Given the description of an element on the screen output the (x, y) to click on. 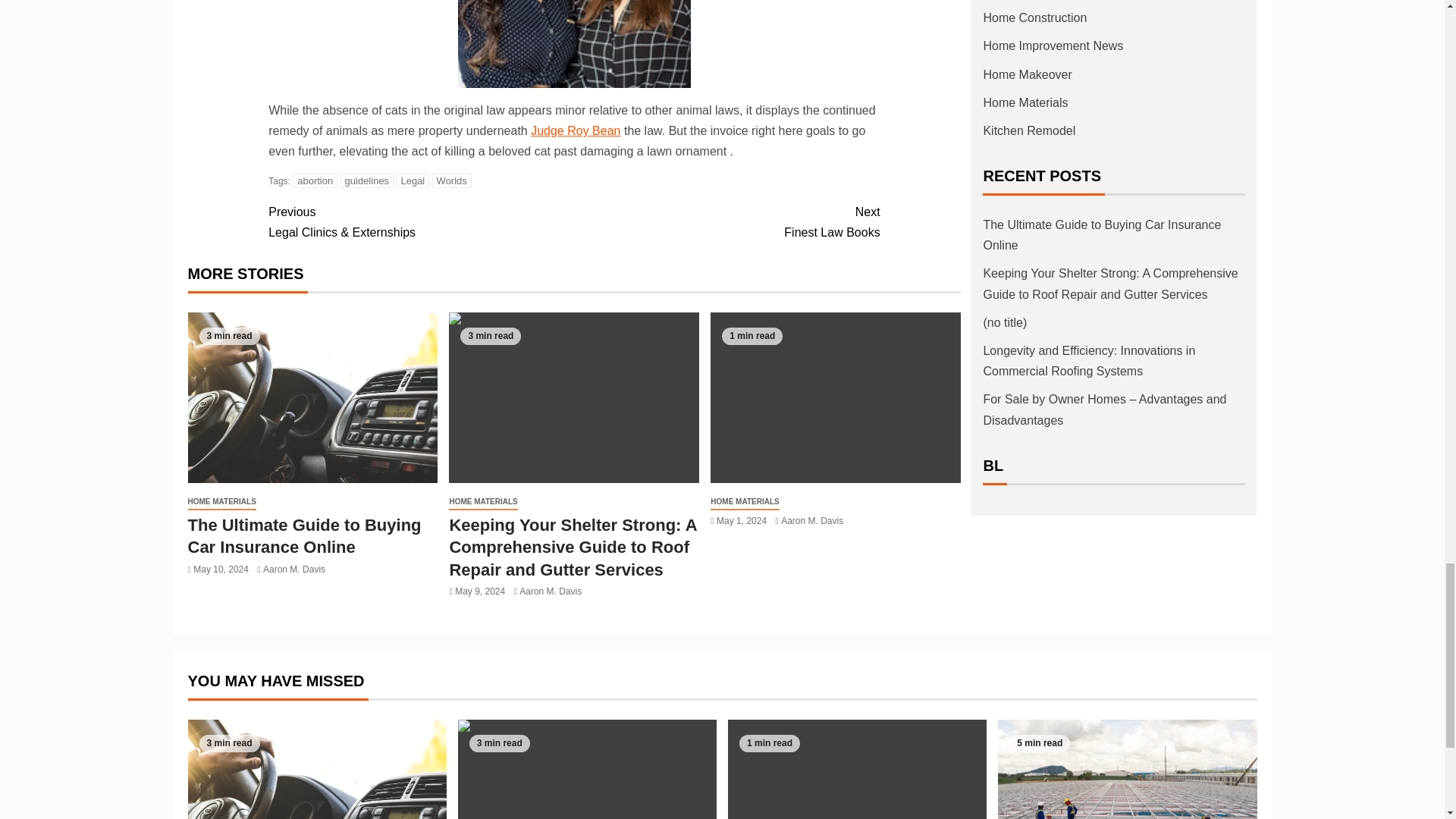
HOME MATERIALS (221, 502)
guidelines (367, 180)
abortion (314, 180)
Worlds (726, 221)
Judge Roy Bean (451, 180)
The Ultimate Guide to Buying Car Insurance Online (575, 130)
Legal (312, 397)
